Given the description of an element on the screen output the (x, y) to click on. 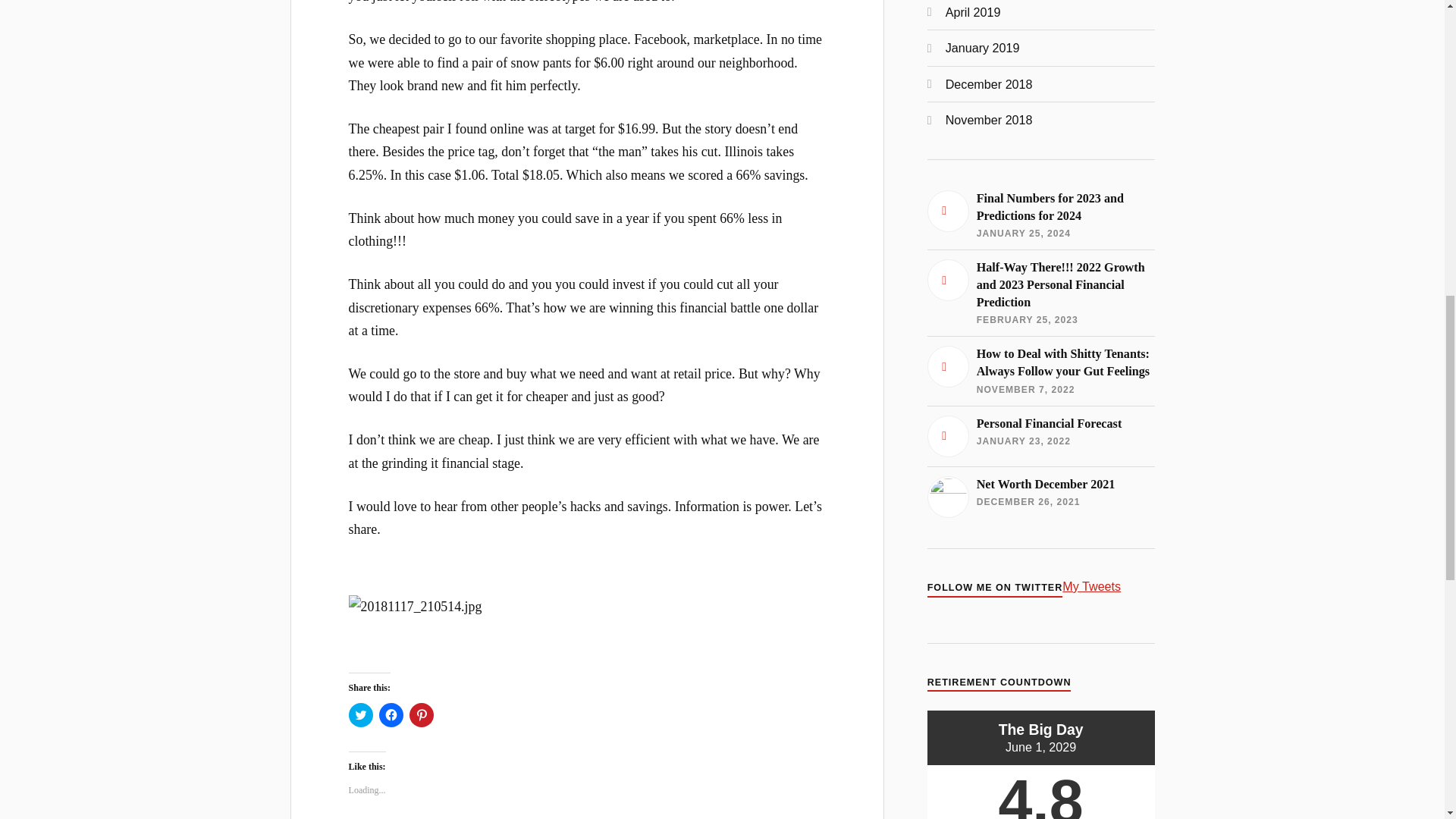
Click to share on Twitter (360, 714)
Click to share on Pinterest (421, 714)
Click to share on Facebook (390, 714)
